Given the description of an element on the screen output the (x, y) to click on. 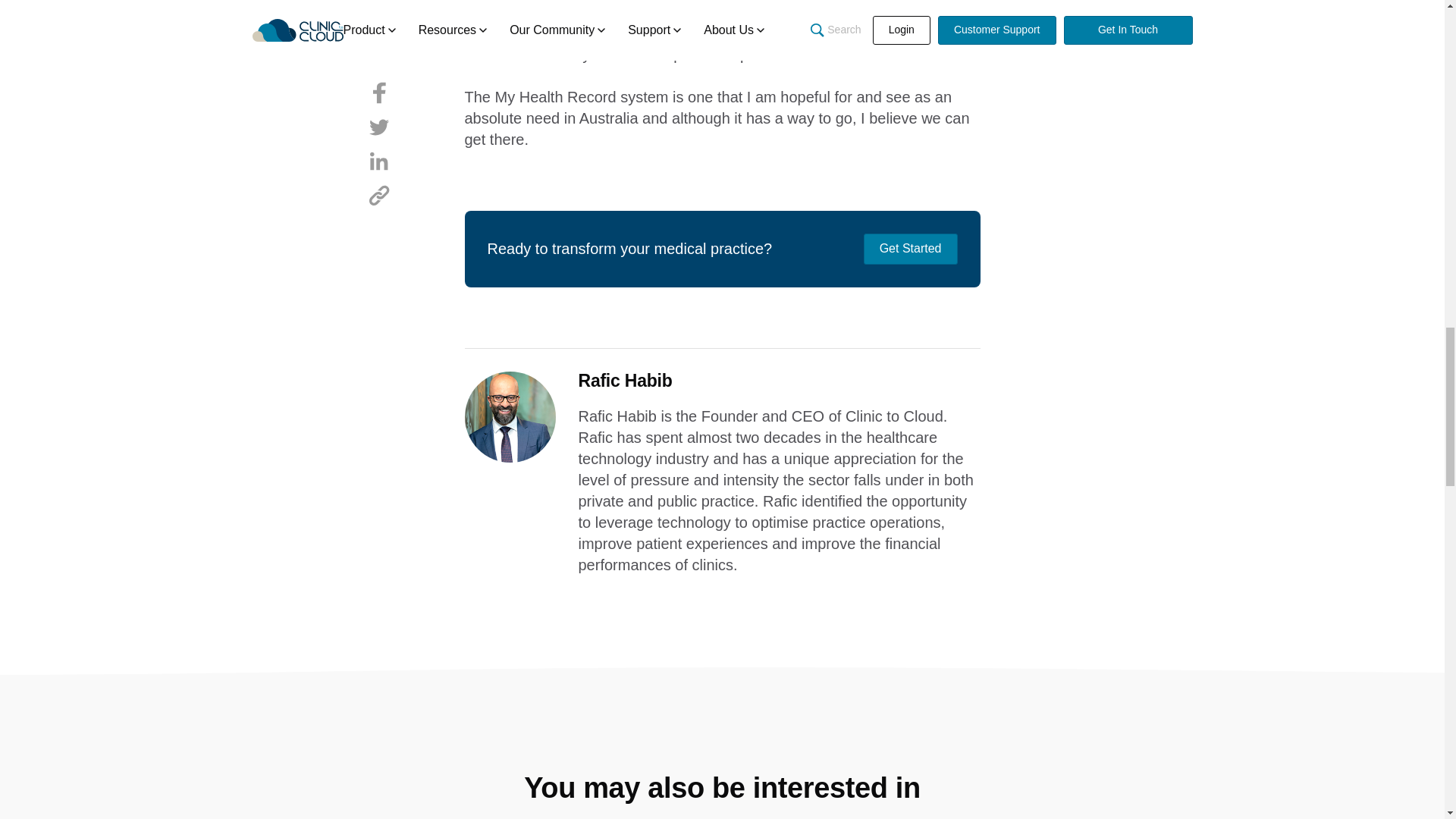
Get Started (910, 248)
